Given the description of an element on the screen output the (x, y) to click on. 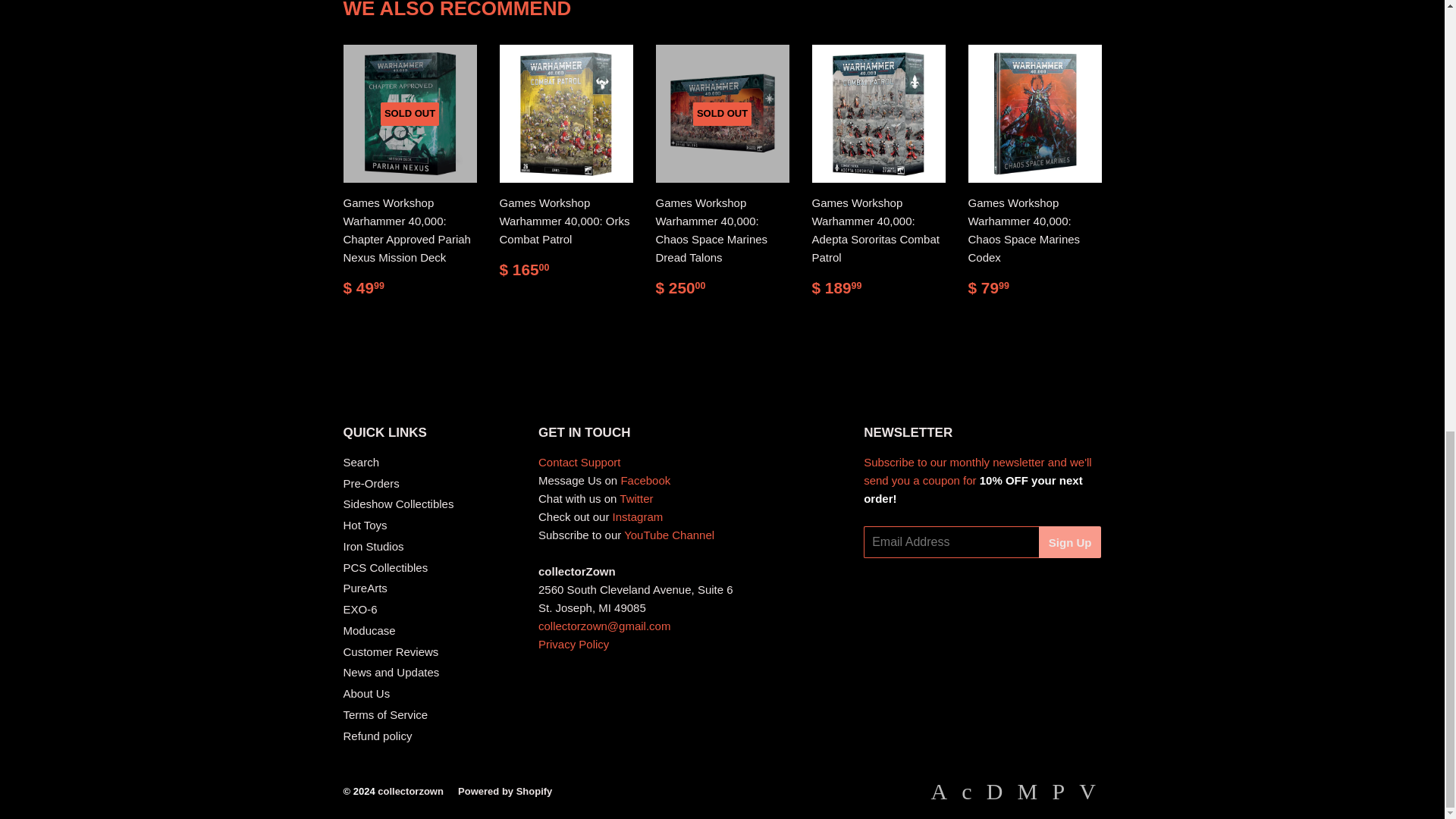
Sign Up (1070, 541)
